Given the description of an element on the screen output the (x, y) to click on. 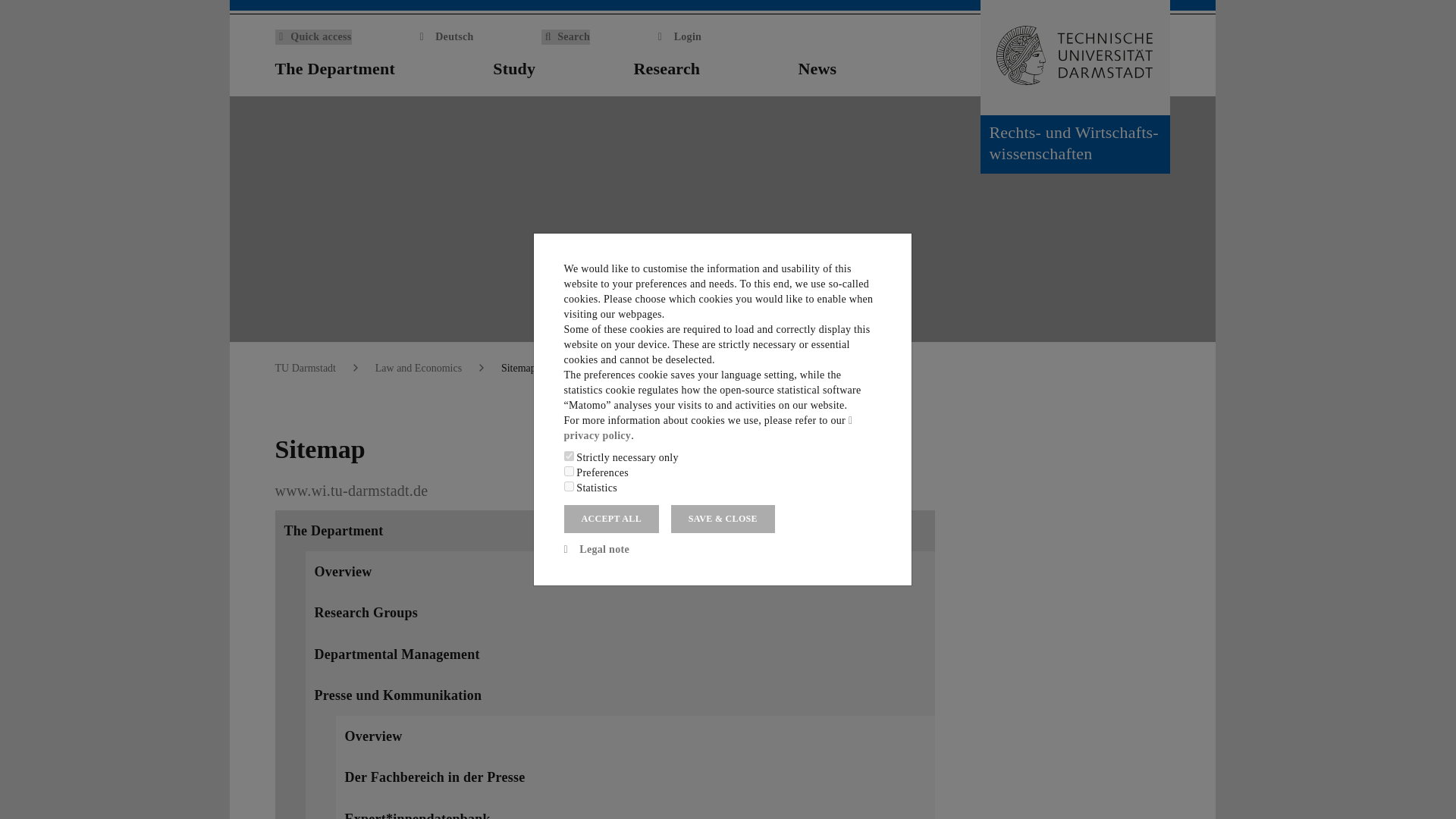
Skip menu (13, 5)
Go to home of TU Darmstadt (1074, 57)
usability (568, 470)
Home of institution (1160, 69)
statistics (568, 486)
essential (568, 456)
